Given the description of an element on the screen output the (x, y) to click on. 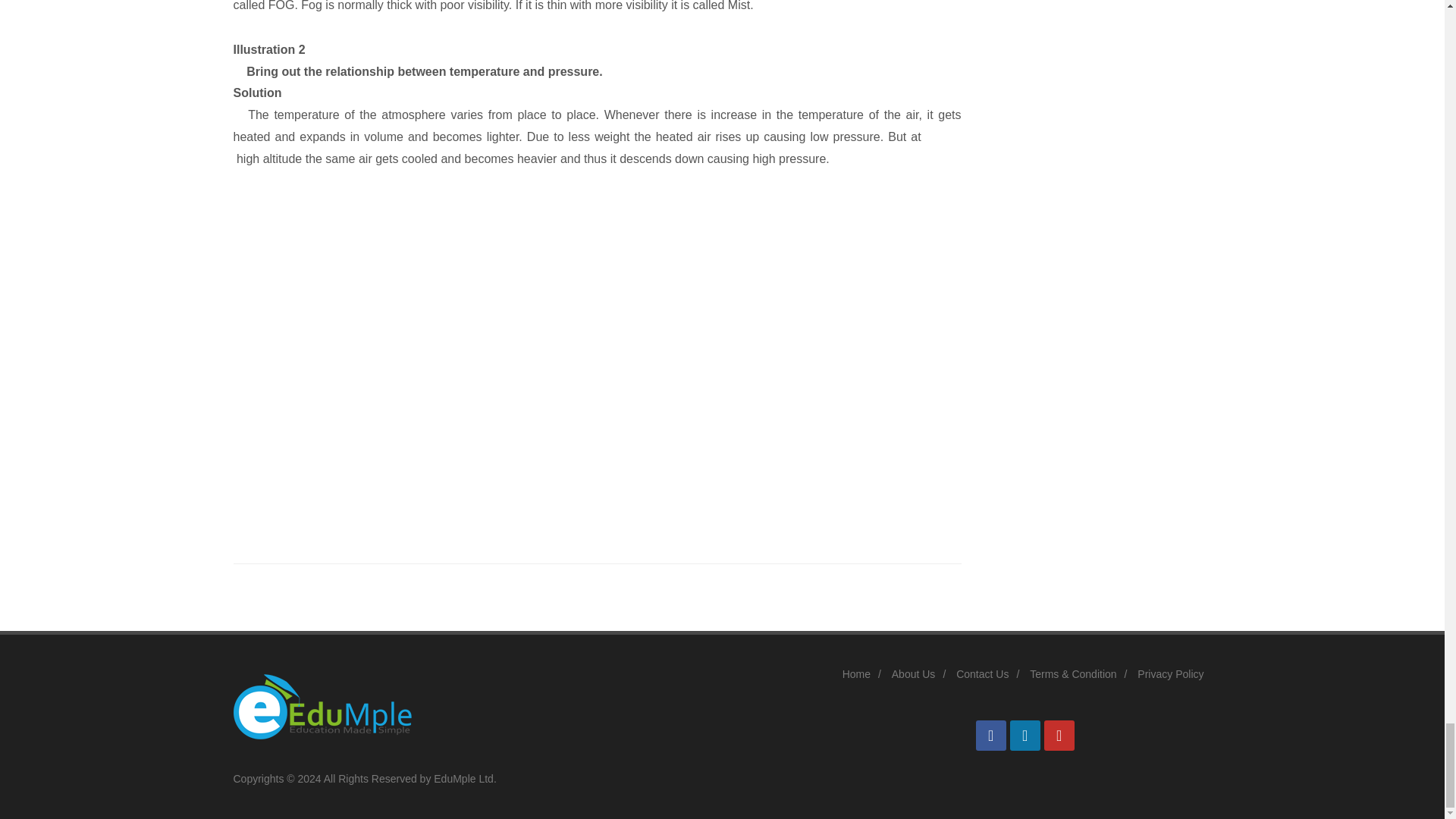
Youtube (1058, 735)
Linked In (1025, 735)
Facebook (990, 735)
